Given the description of an element on the screen output the (x, y) to click on. 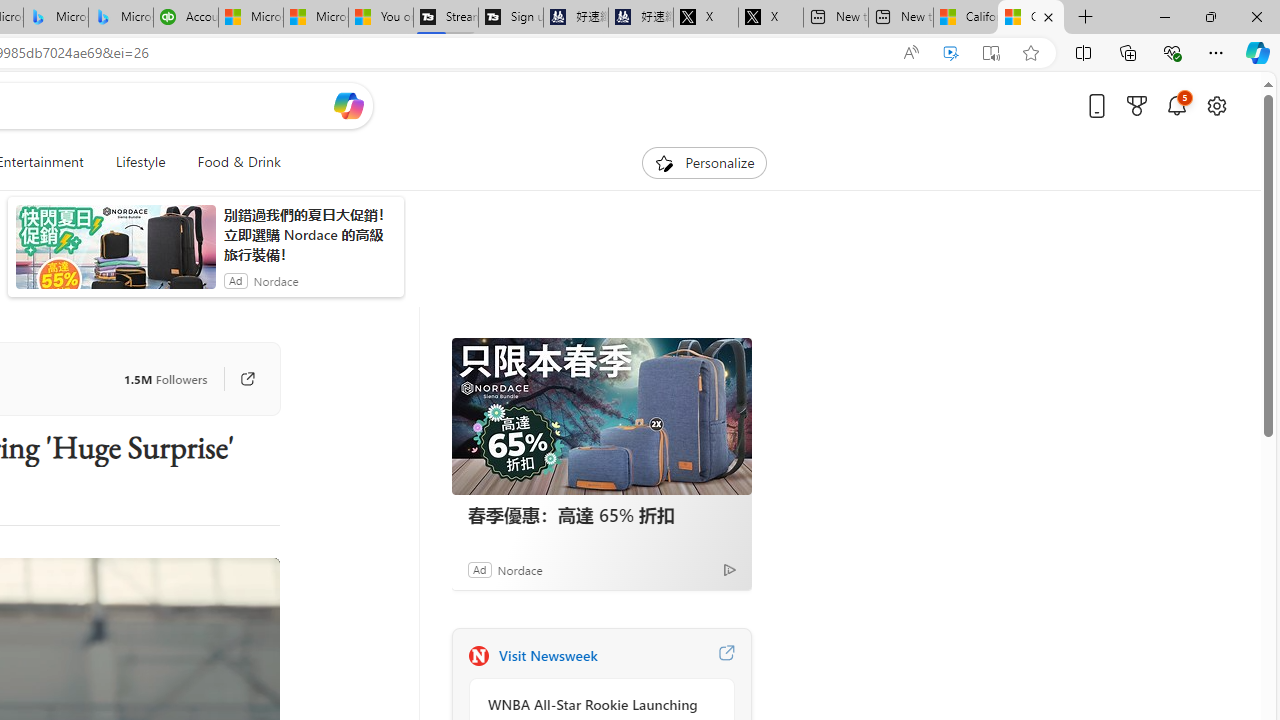
Food & Drink (239, 162)
Food & Drink (230, 162)
Lifestyle (140, 162)
Enhance video (950, 53)
